Given the description of an element on the screen output the (x, y) to click on. 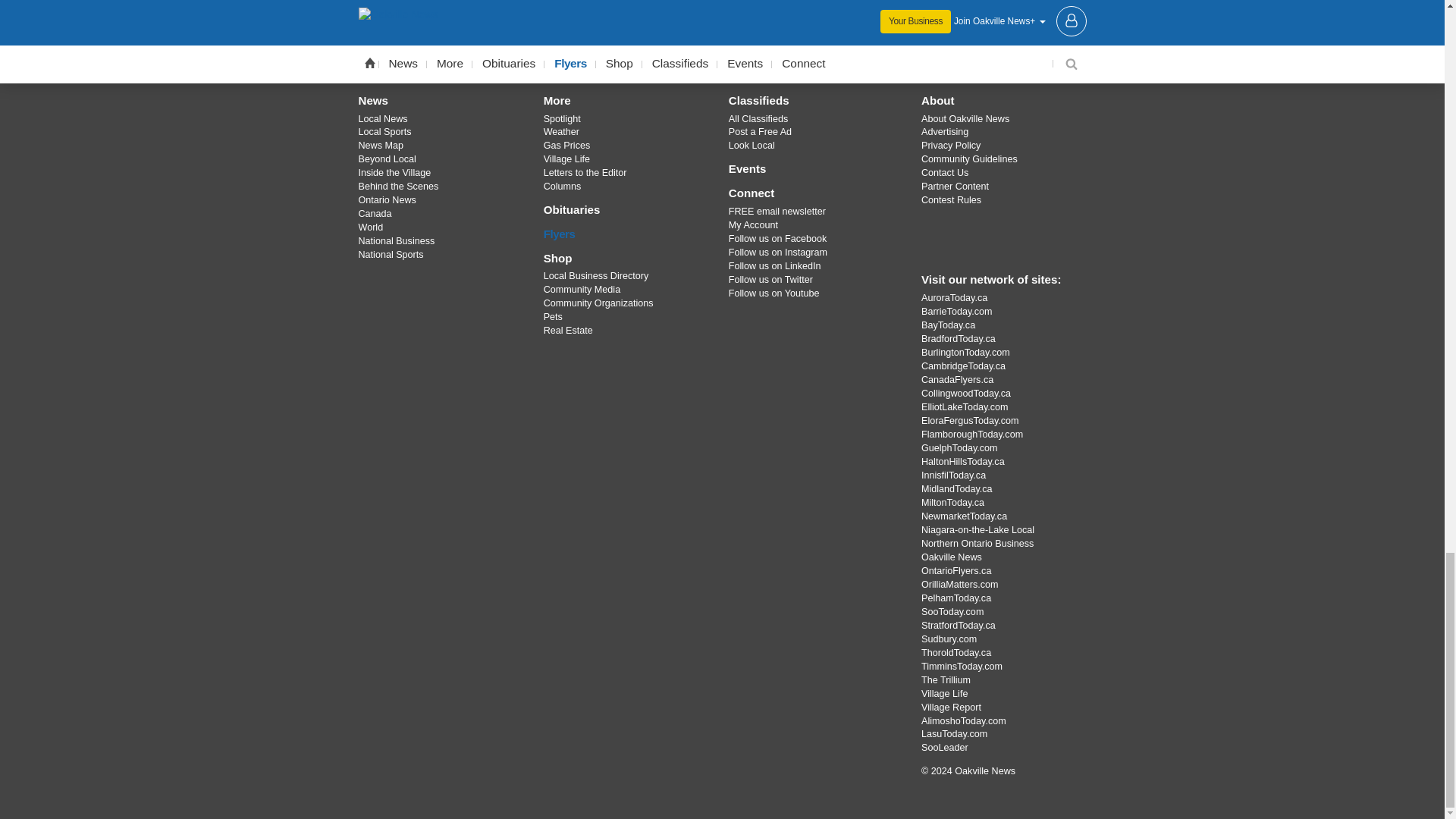
X (683, 46)
Instagram (721, 46)
LinkedIn (800, 46)
Facebook (644, 46)
YouTube (760, 46)
